Given the description of an element on the screen output the (x, y) to click on. 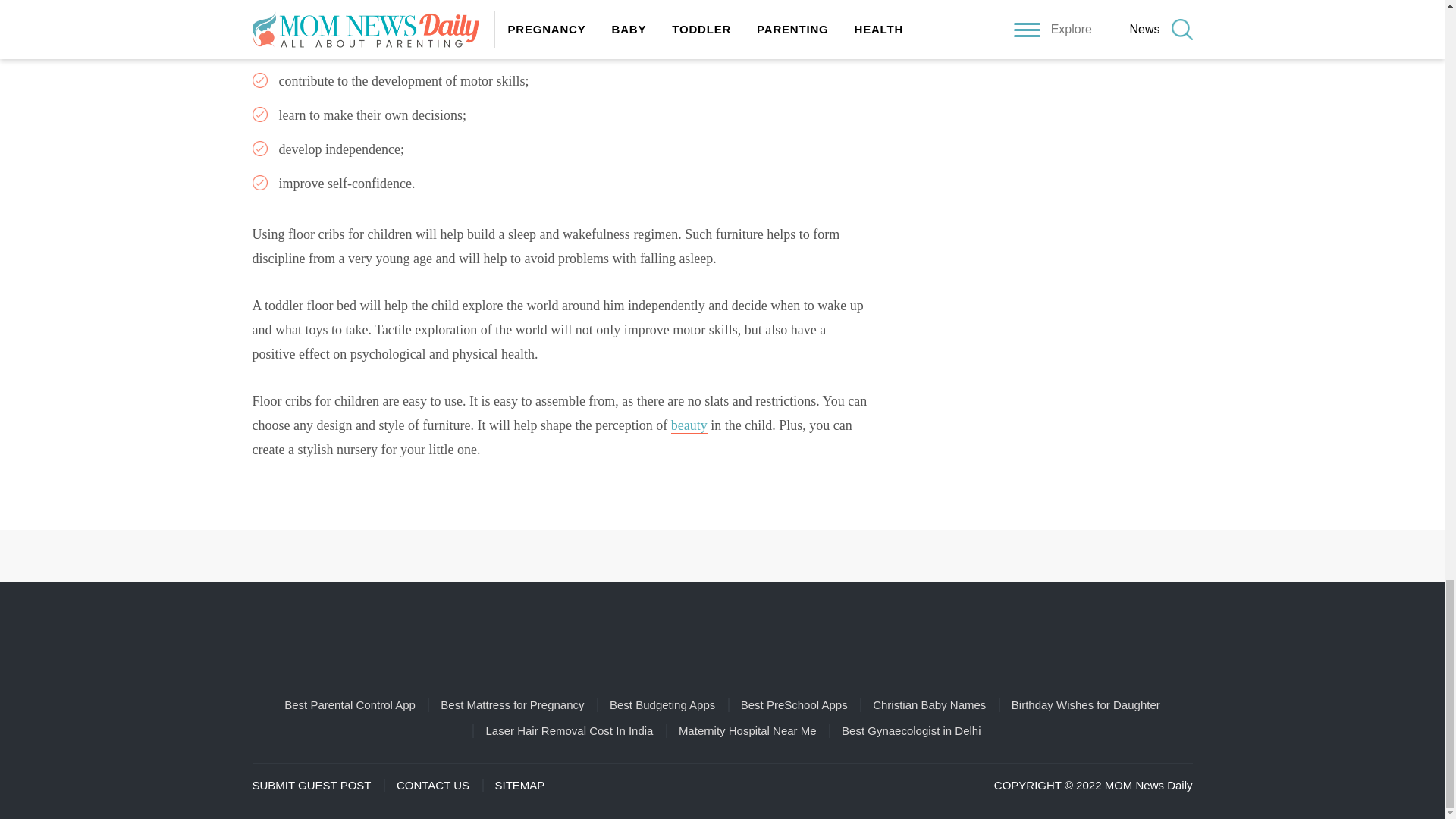
facebook (657, 555)
pinterest (700, 555)
instagram (743, 555)
twitter (787, 555)
beauty (689, 425)
